Given the description of an element on the screen output the (x, y) to click on. 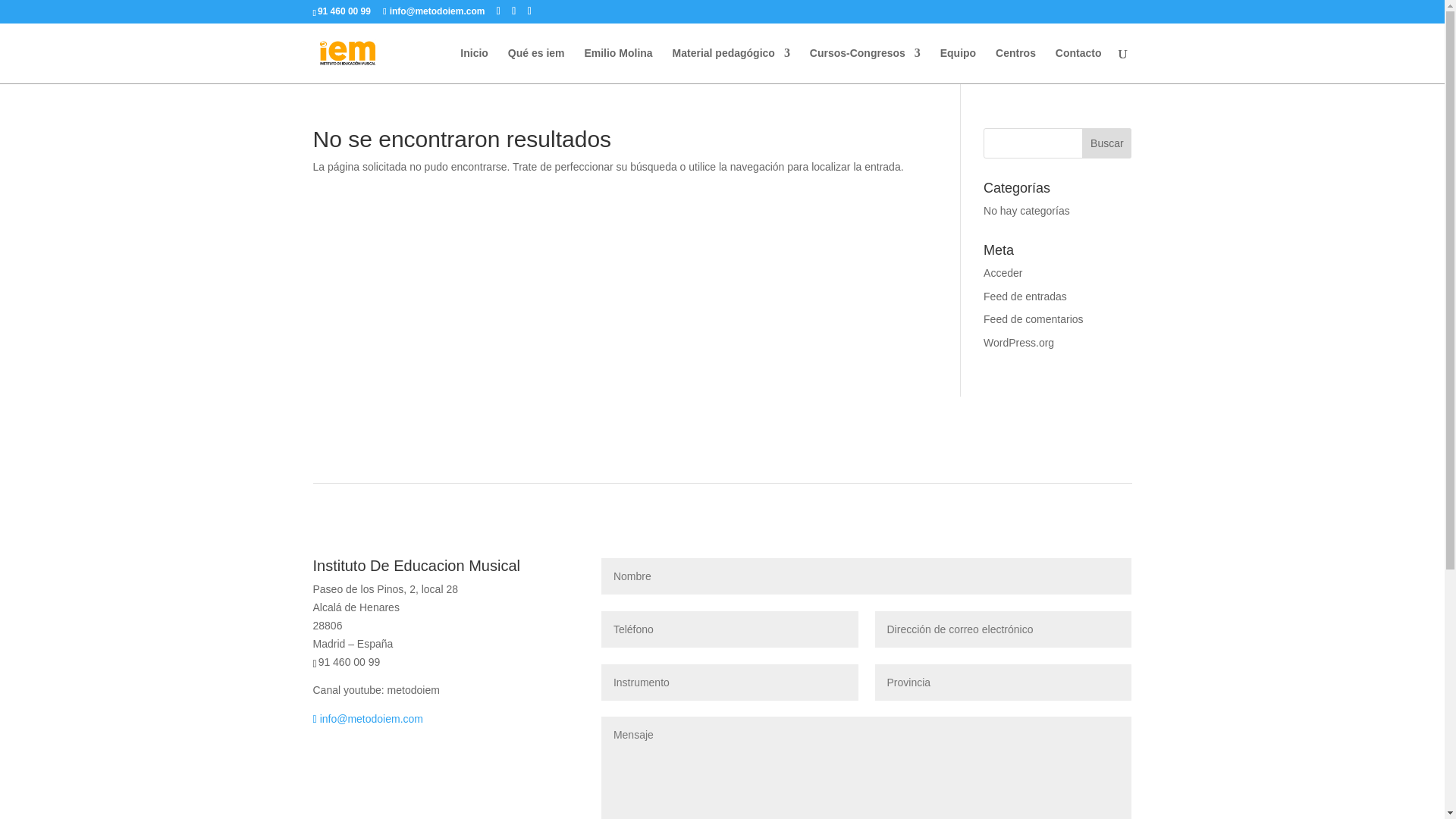
Buscar (1106, 142)
Acceder (1003, 272)
Seguir en Twitter (354, 763)
Equipo (957, 65)
Seguir en Instagram (384, 763)
Feed de entradas (1025, 296)
Cursos-Congresos (864, 65)
Feed de comentarios (1033, 318)
Buscar (1106, 142)
Centros (1015, 65)
